Given the description of an element on the screen output the (x, y) to click on. 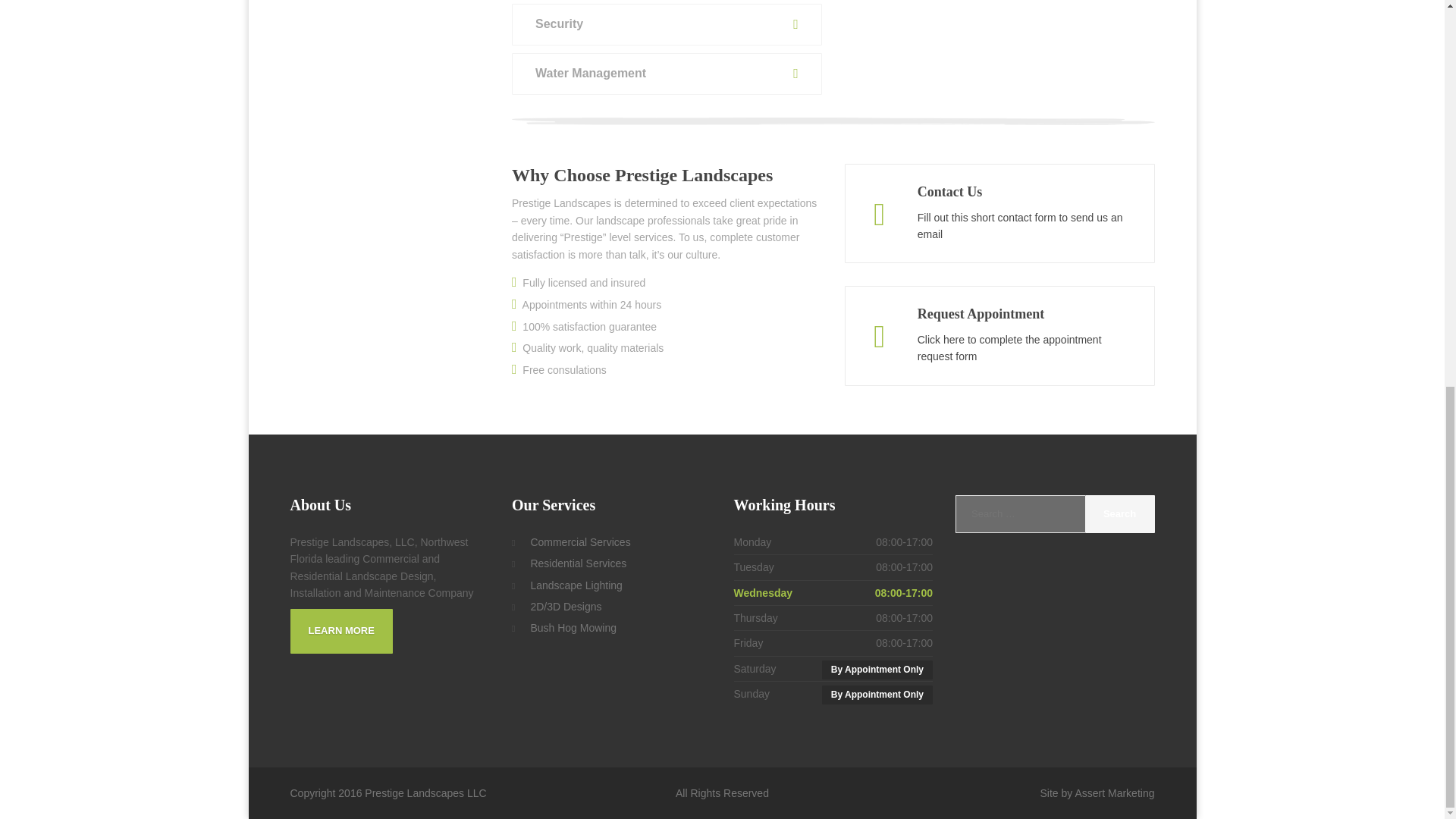
Water Management (667, 74)
Security (667, 24)
Search (1119, 514)
Search (1119, 514)
